Given the description of an element on the screen output the (x, y) to click on. 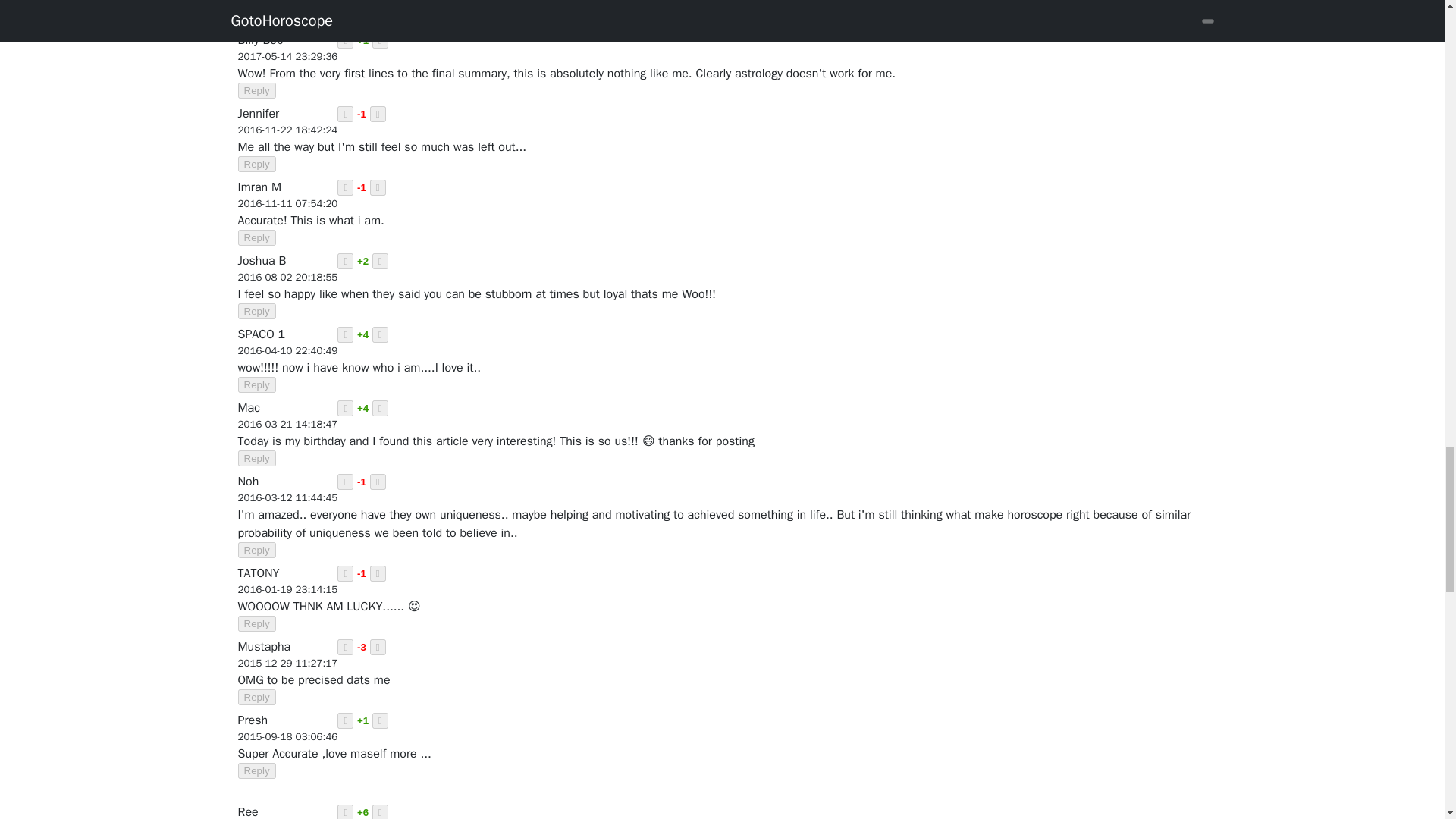
Reply (257, 90)
Reply (257, 17)
Reply (257, 163)
Reply (257, 311)
Reply (257, 237)
